Given the description of an element on the screen output the (x, y) to click on. 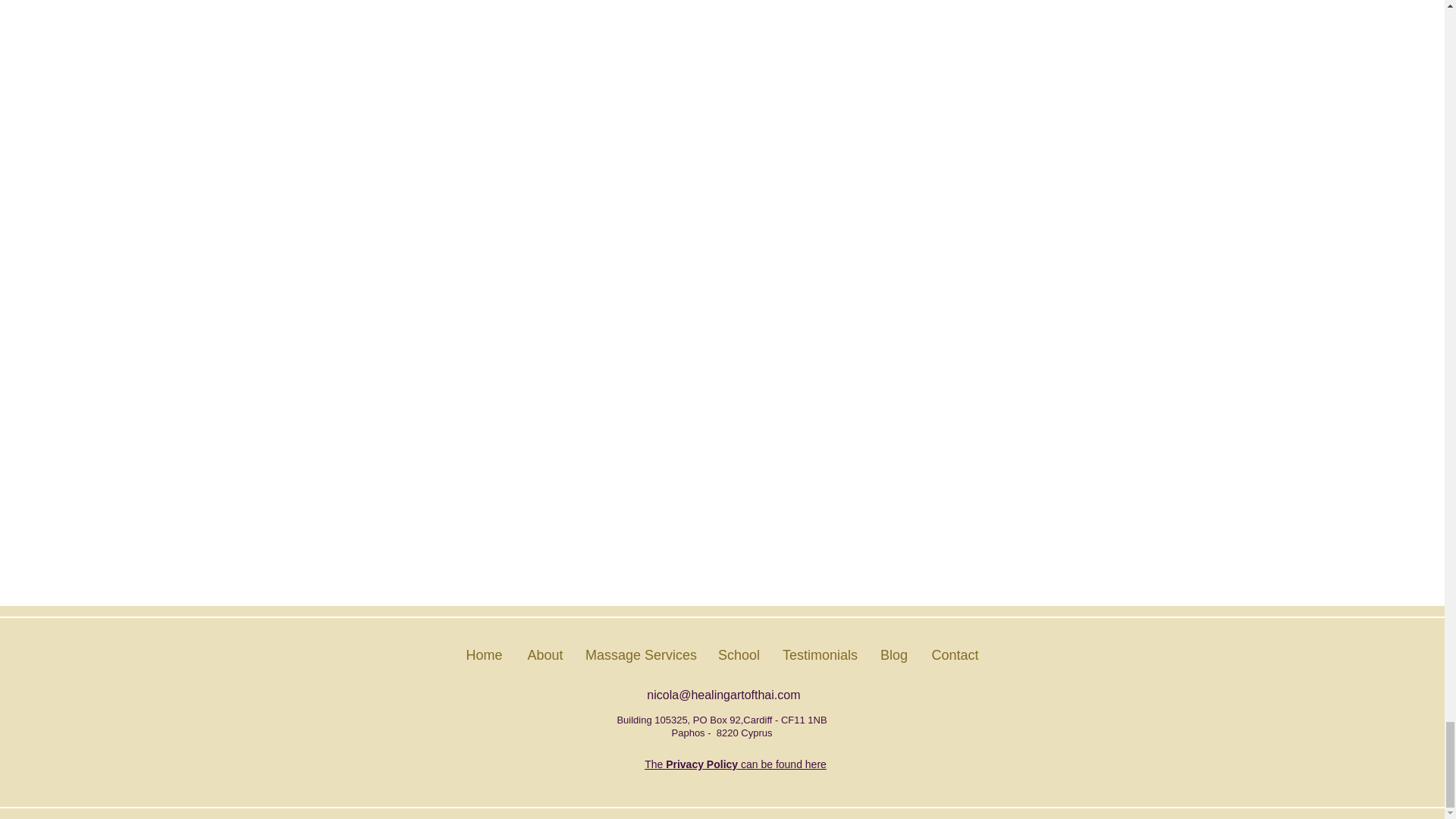
School (738, 655)
Contact (954, 655)
Testimonials (820, 655)
The Privacy Policy can be found here (736, 764)
Massage Services (641, 655)
Home (482, 655)
Blog (894, 655)
About (544, 655)
